Given the description of an element on the screen output the (x, y) to click on. 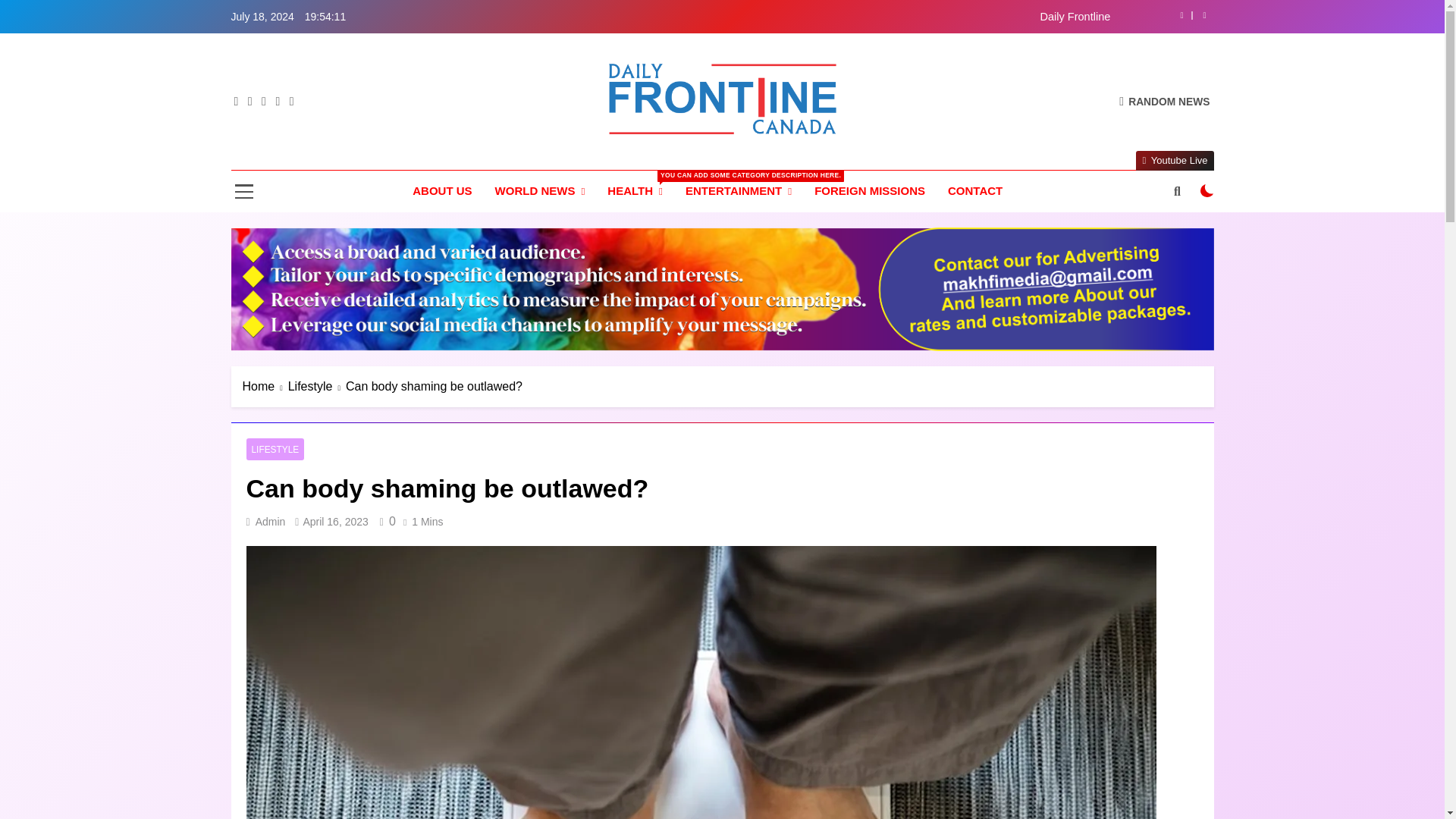
Daily Frontline (817, 16)
on (1206, 191)
Daily Frontline (817, 16)
RANDOM NEWS (1164, 101)
Daily Frontline (591, 156)
